Given the description of an element on the screen output the (x, y) to click on. 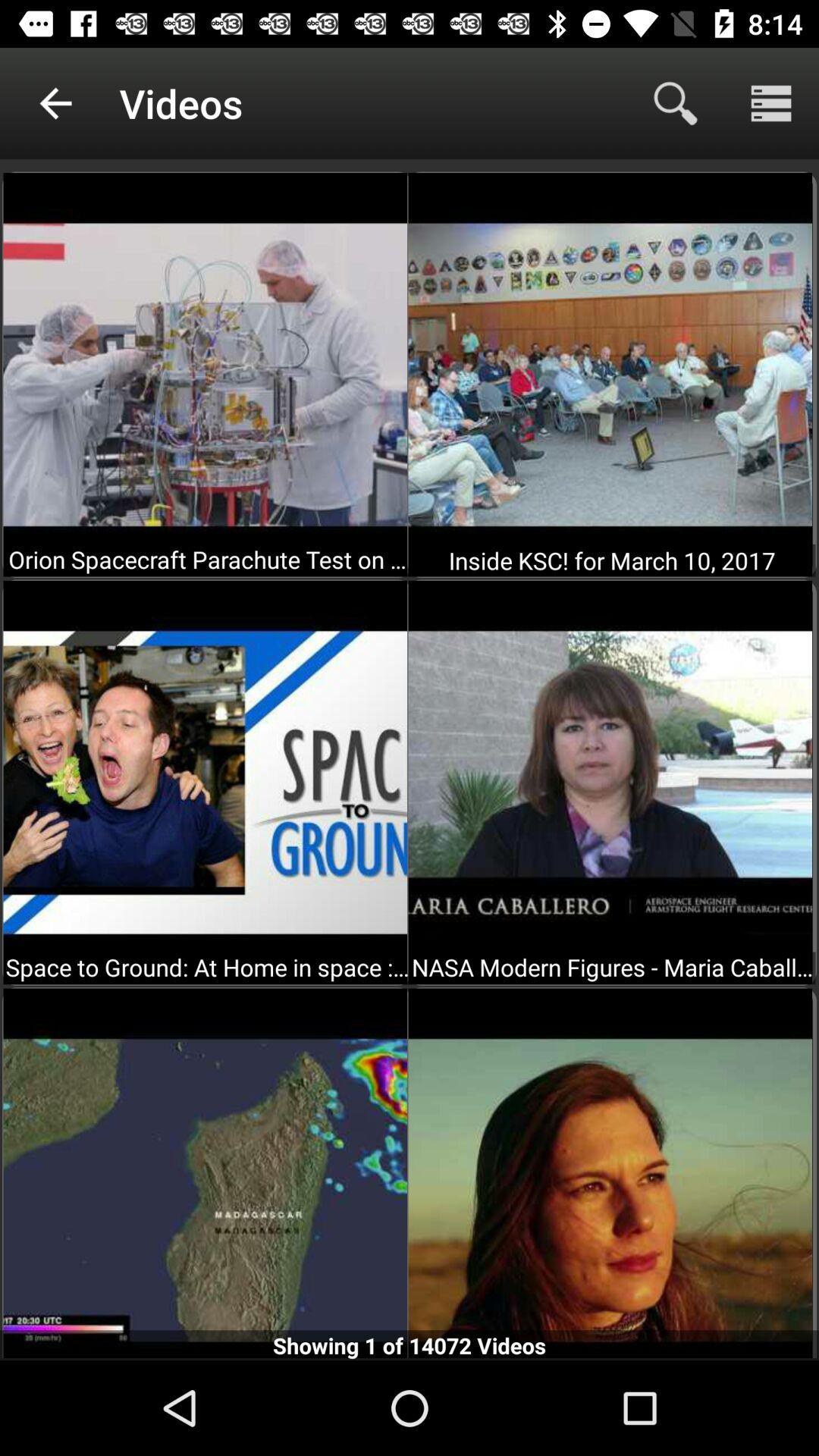
launch app to the right of the videos icon (675, 103)
